Given the description of an element on the screen output the (x, y) to click on. 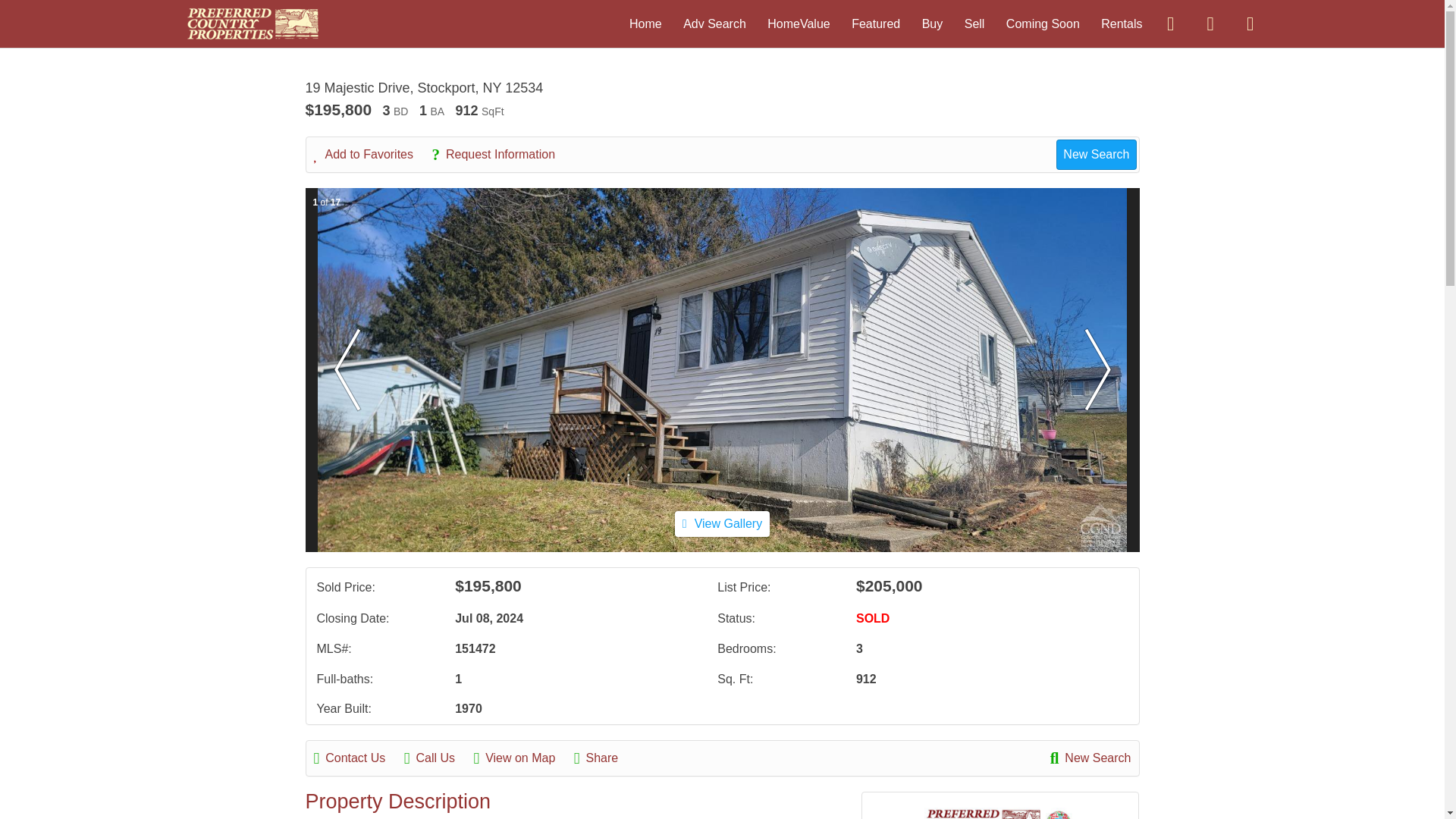
New Search (1090, 757)
Add to Favorites (371, 154)
View Gallery (722, 522)
Rentals (1120, 23)
Coming Soon (1043, 23)
Share (603, 757)
View on Map (521, 757)
Home (645, 23)
Sell (974, 23)
View Gallery (722, 524)
